Given the description of an element on the screen output the (x, y) to click on. 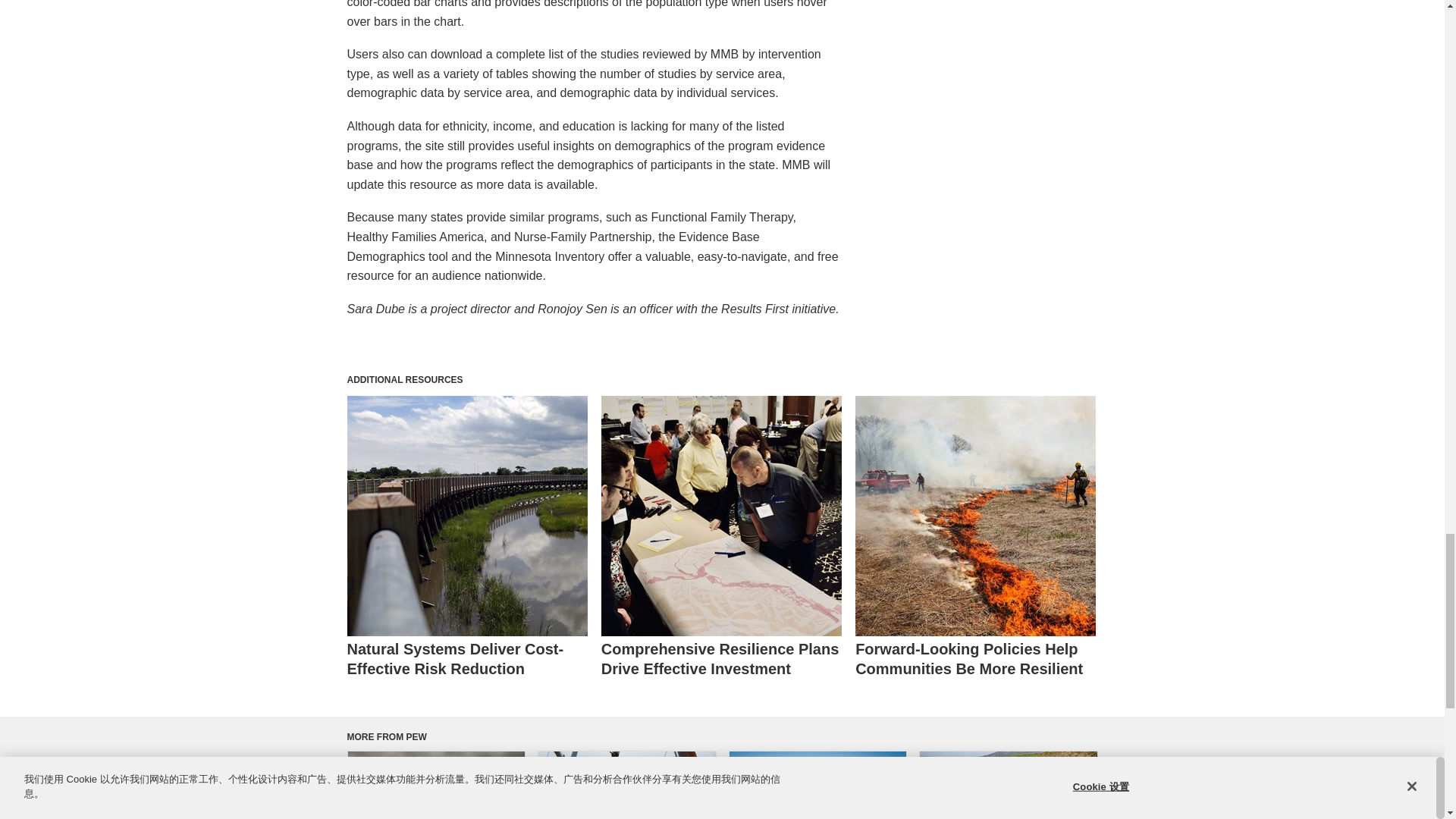
Solar panels in a desert in front of a mountain (818, 785)
